Given the description of an element on the screen output the (x, y) to click on. 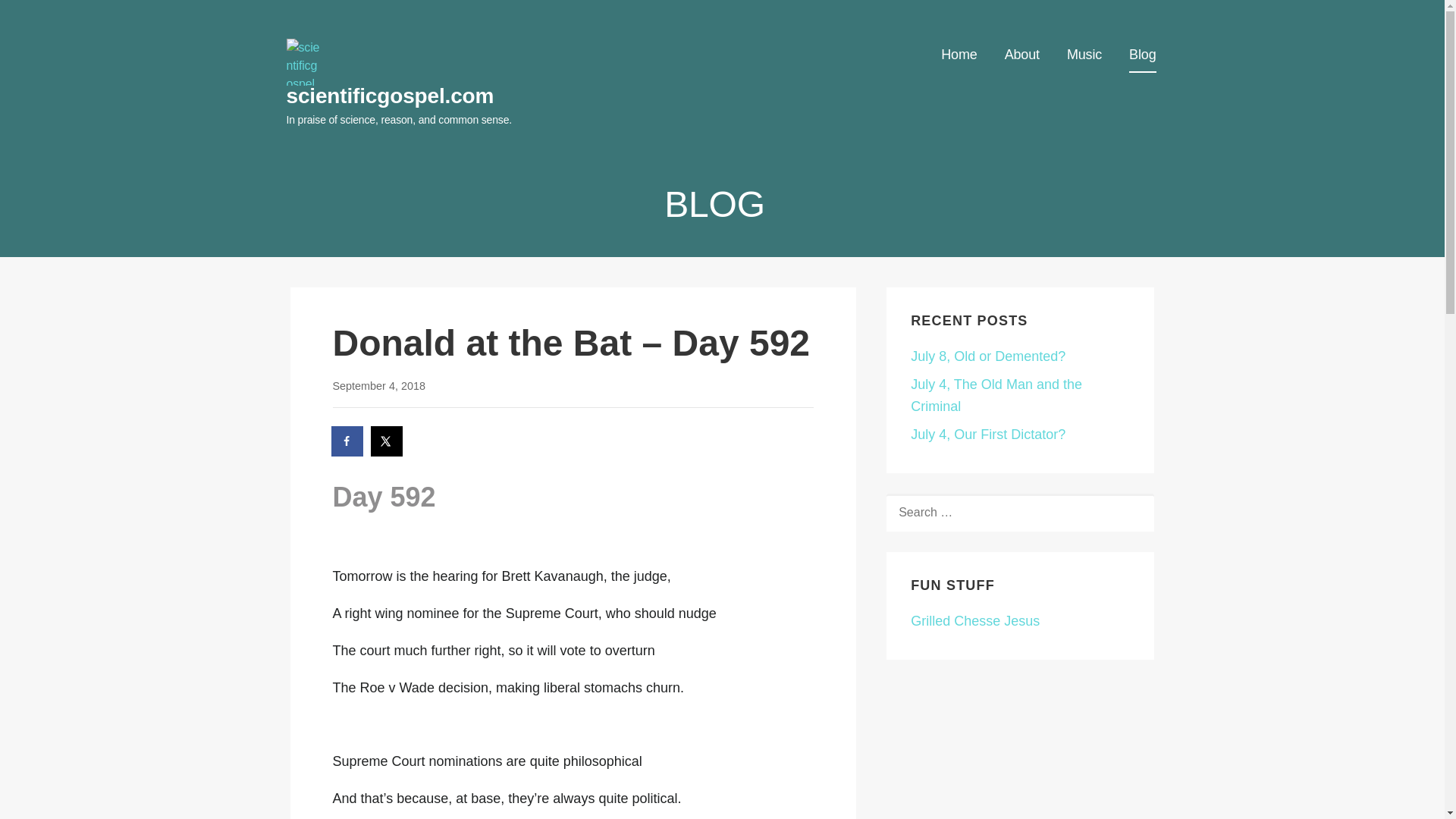
scientificgospel.com (390, 95)
Home (958, 55)
Share on Facebook (346, 440)
Share on X (387, 440)
Grilled Chesse Jesus (975, 620)
Where will those spunky deities show up next? (975, 620)
Music (1084, 55)
About (1021, 55)
July 4, Our First Dictator? (988, 434)
Search (47, 17)
